Given the description of an element on the screen output the (x, y) to click on. 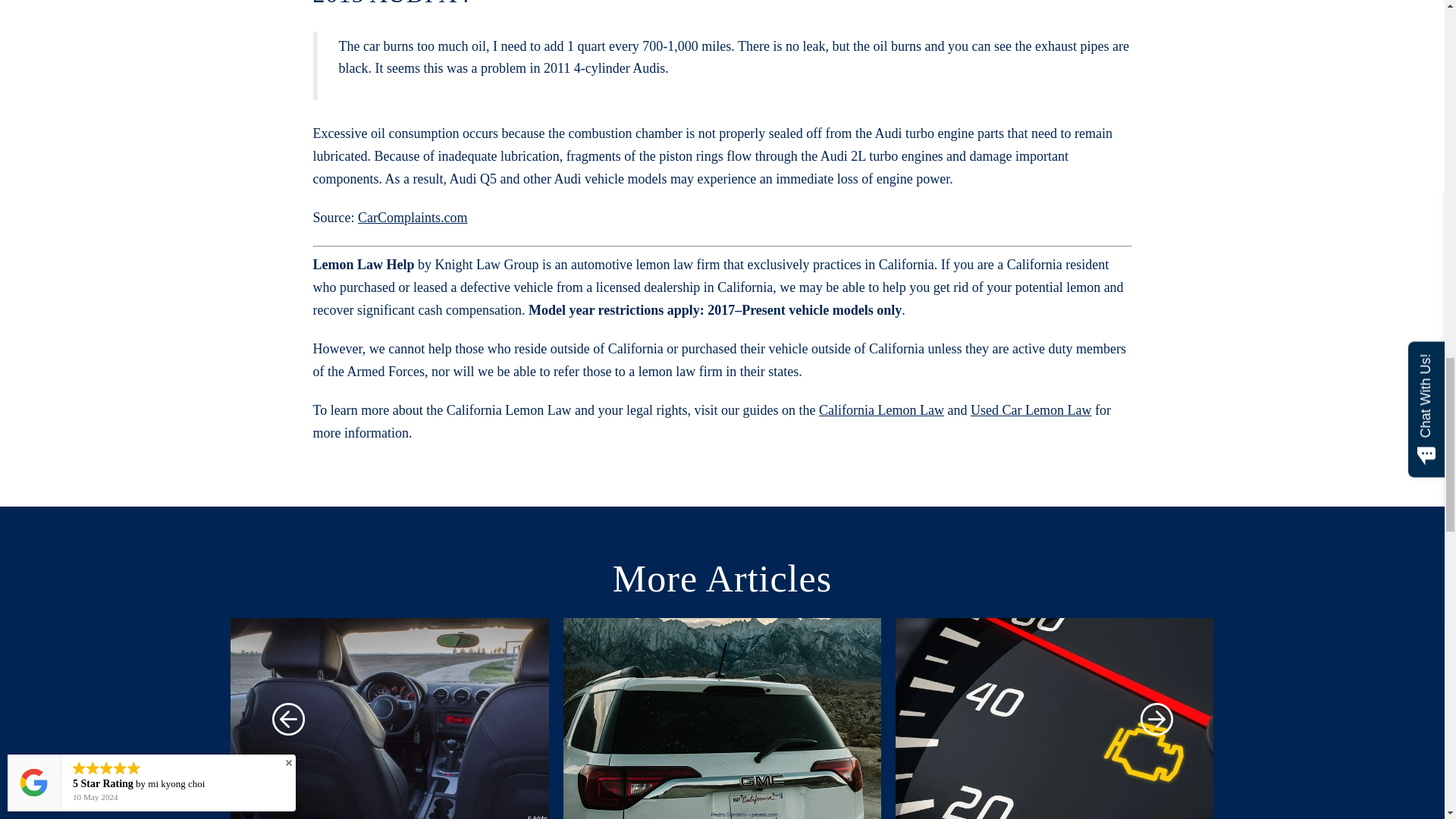
gmc (721, 718)
audi2 (389, 718)
